Given the description of an element on the screen output the (x, y) to click on. 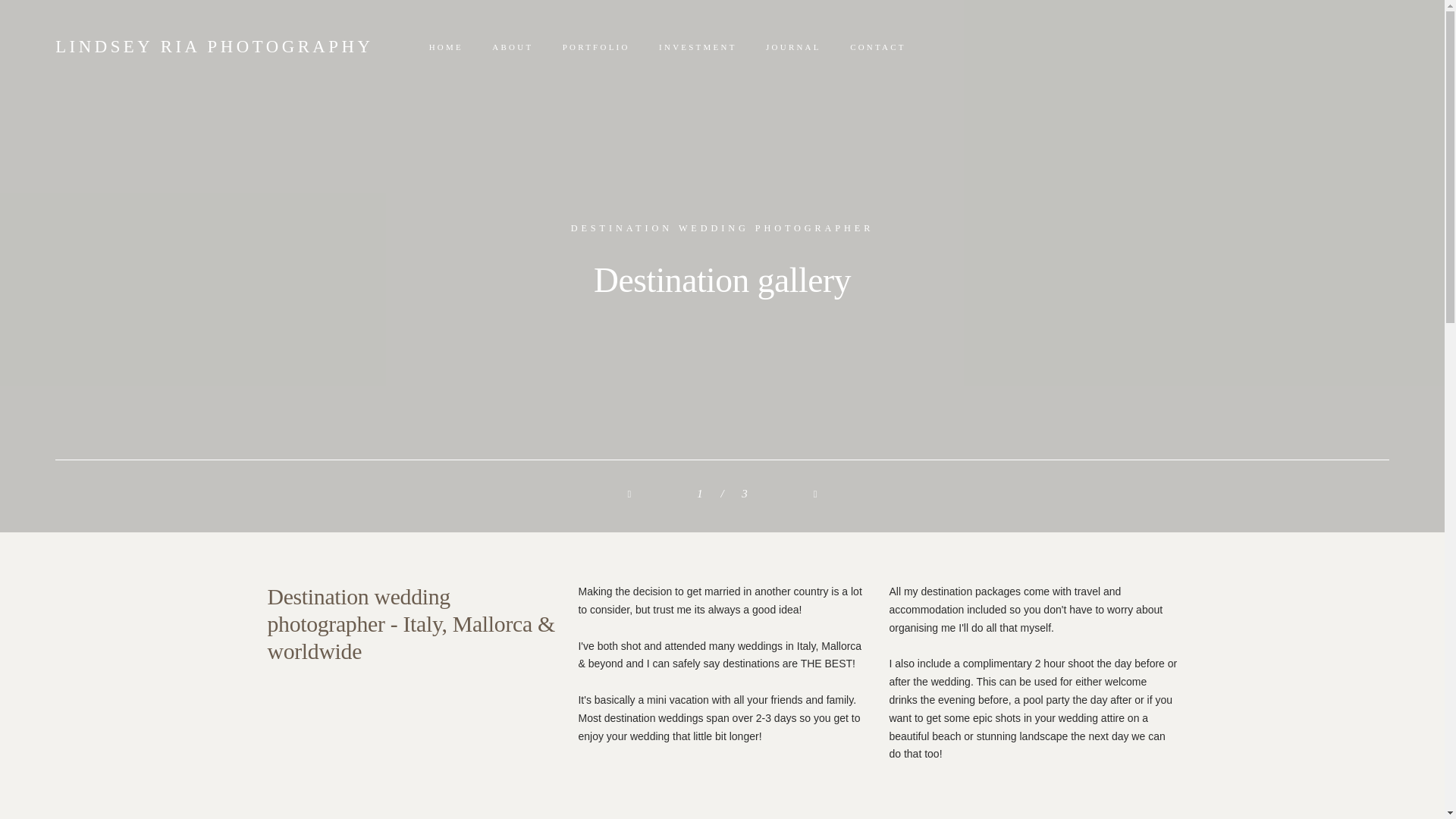
LINDSEY RIA PHOTOGRAPHY (213, 47)
INVESTMENT (698, 47)
CONTACT (877, 47)
PORTFOLIO (596, 47)
HOME (445, 47)
JOURNAL (793, 47)
ABOUT (512, 47)
